Given the description of an element on the screen output the (x, y) to click on. 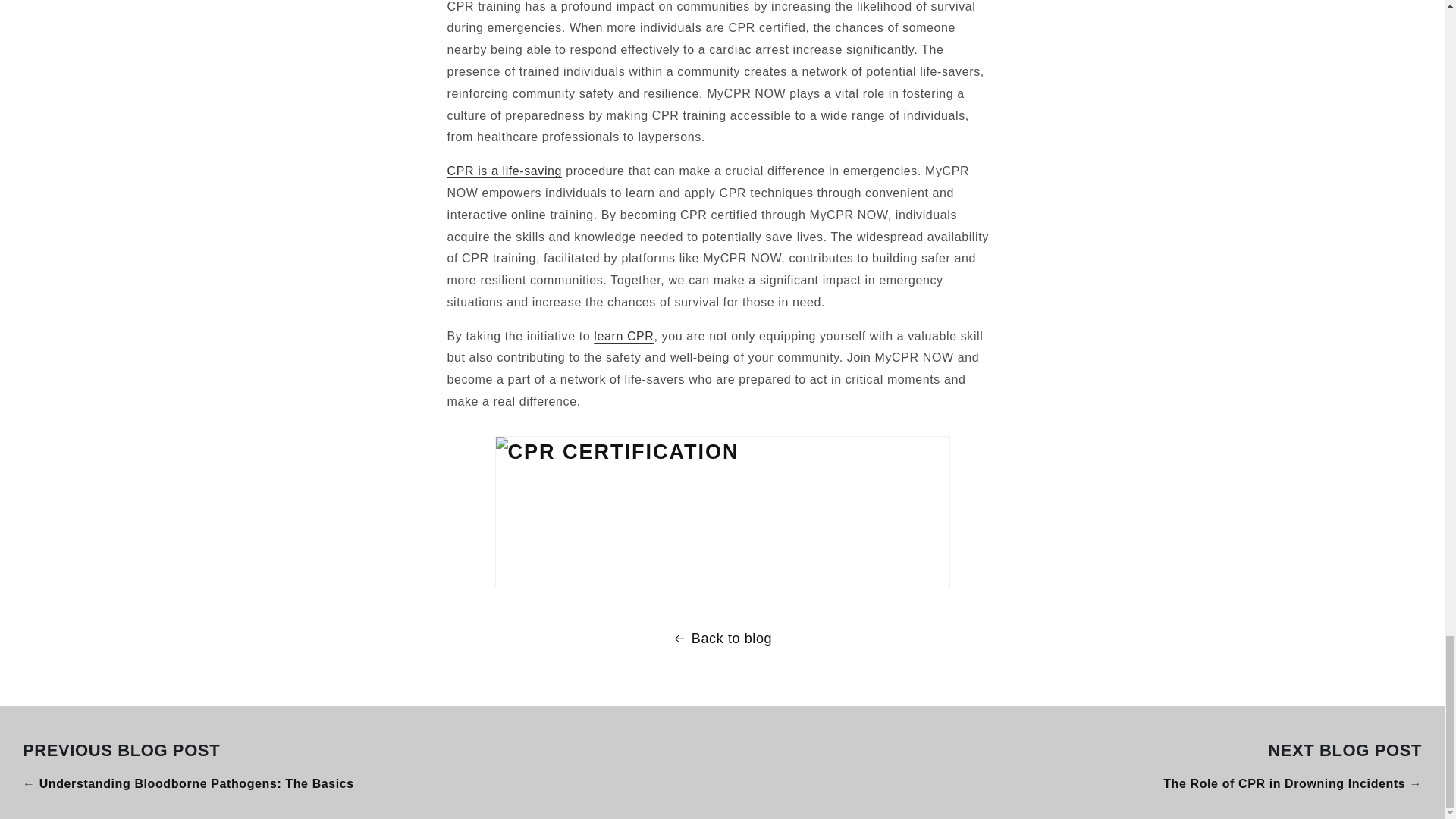
Understanding Bloodborne Pathogens: The Basics (196, 783)
learn CPR (623, 336)
CPR is a life-saving (504, 170)
